Given the description of an element on the screen output the (x, y) to click on. 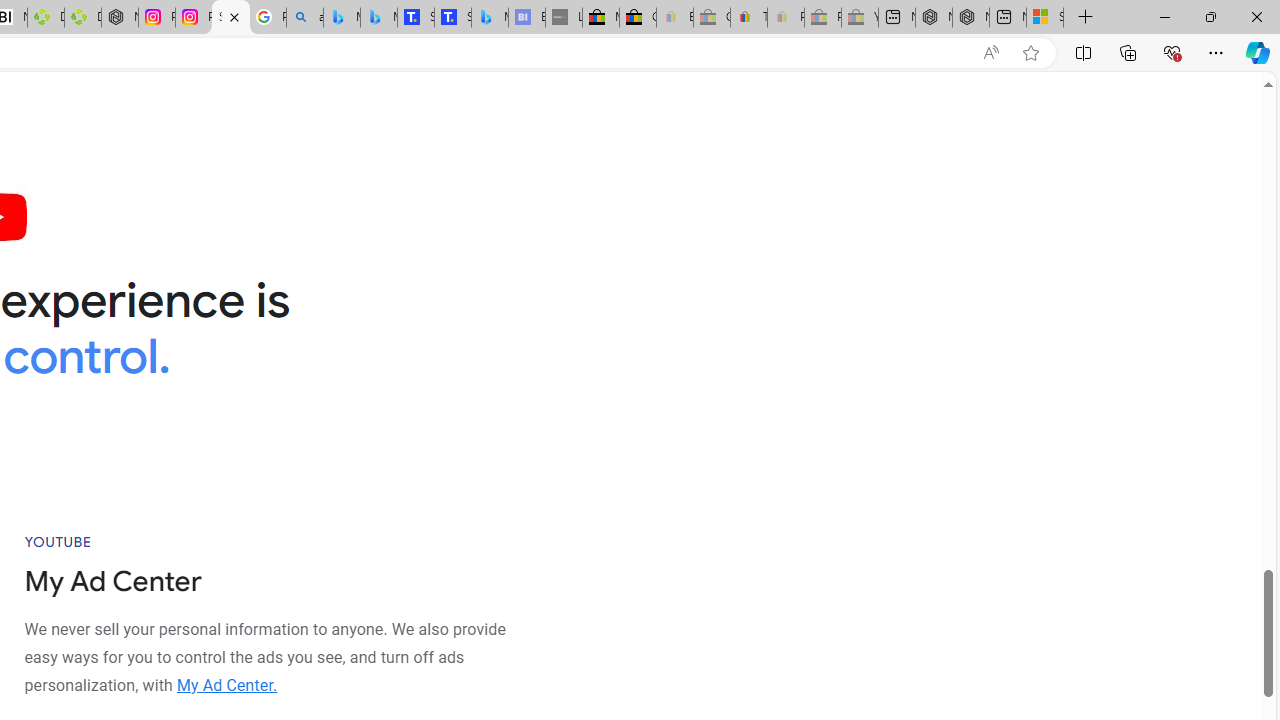
Press Room - eBay Inc. - Sleeping (822, 17)
Nordace - Nordace Edin Collection (120, 17)
Shangri-La Bangkok, Hotel reviews and Room rates (453, 17)
Microsoft Bing Travel - Shangri-La Hotel Bangkok (490, 17)
Payments Terms of Use | eBay.com - Sleeping (785, 17)
